Given the description of an element on the screen output the (x, y) to click on. 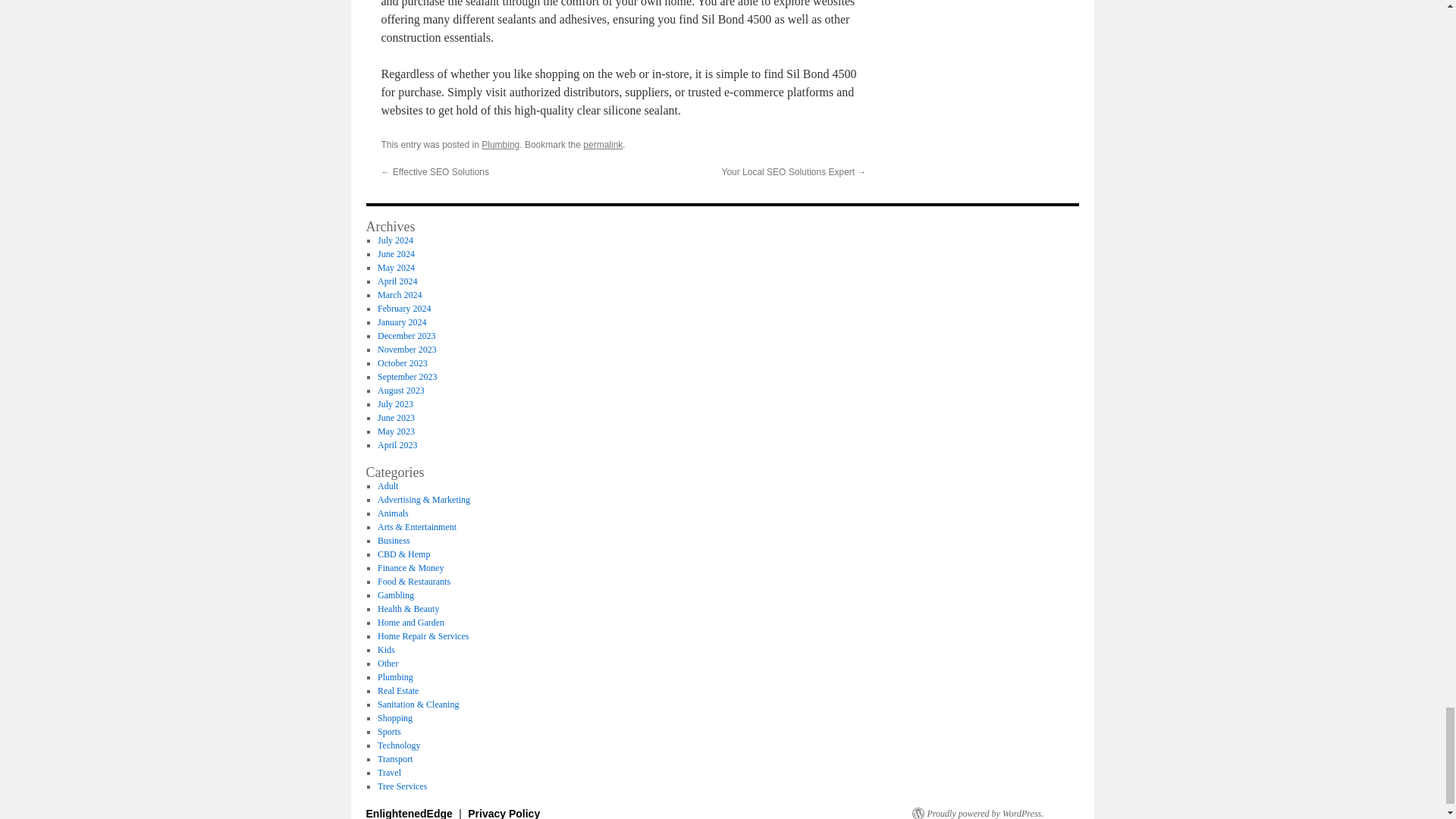
Animals (393, 512)
June 2023 (395, 417)
permalink (603, 144)
Plumbing (500, 144)
May 2023 (395, 430)
January 2024 (401, 321)
June 2024 (395, 253)
November 2023 (406, 348)
February 2024 (403, 308)
May 2024 (395, 267)
July 2023 (395, 403)
October 2023 (402, 362)
March 2024 (399, 294)
December 2023 (406, 335)
April 2023 (396, 444)
